Given the description of an element on the screen output the (x, y) to click on. 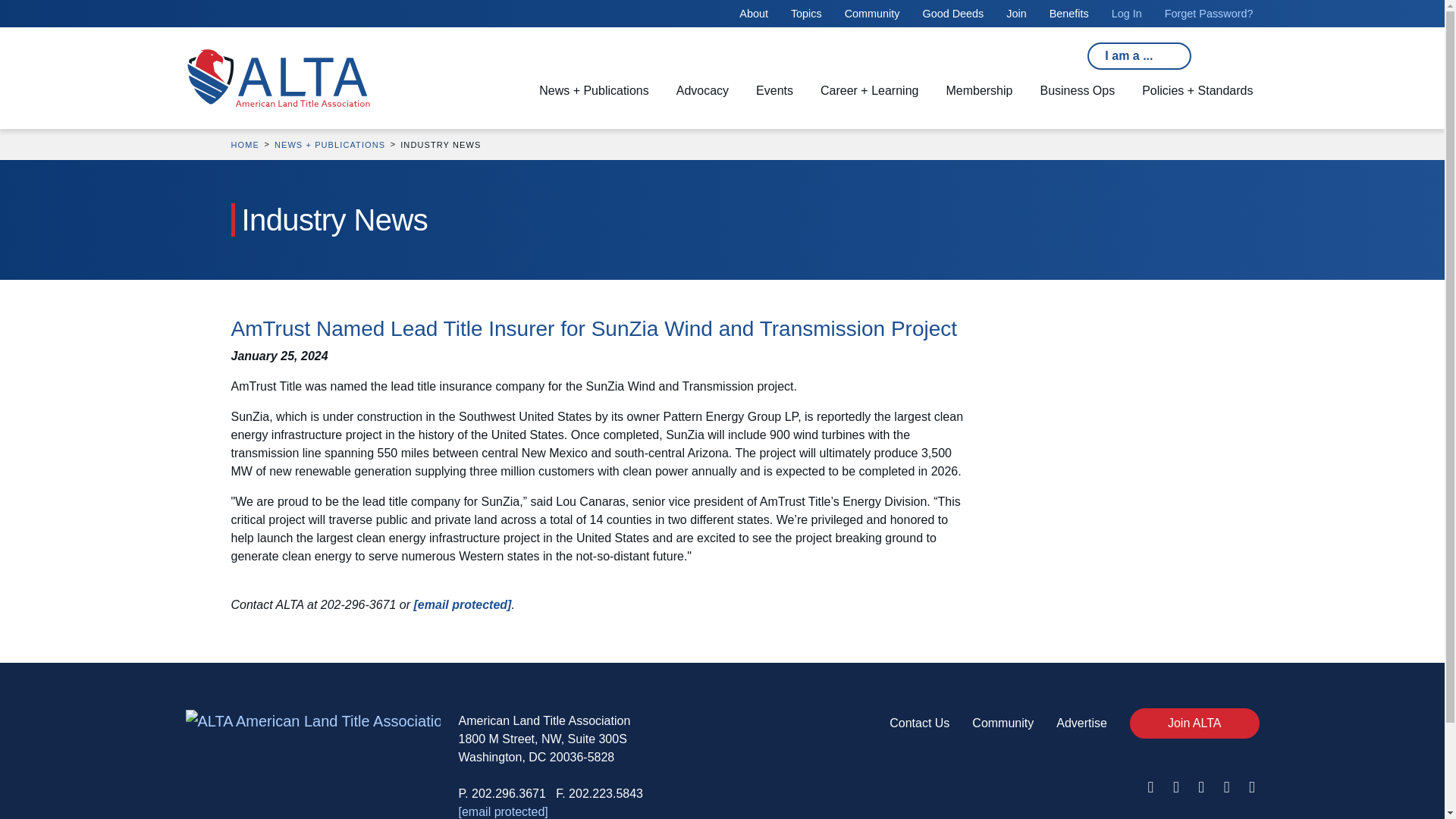
Log In (1126, 13)
I am a ... (1139, 55)
Benefits (1069, 13)
Forget Password? (1208, 13)
Community (871, 13)
About (753, 13)
Search (448, 50)
Topics (806, 13)
Good Deeds (952, 13)
Join (1016, 13)
